Given the description of an element on the screen output the (x, y) to click on. 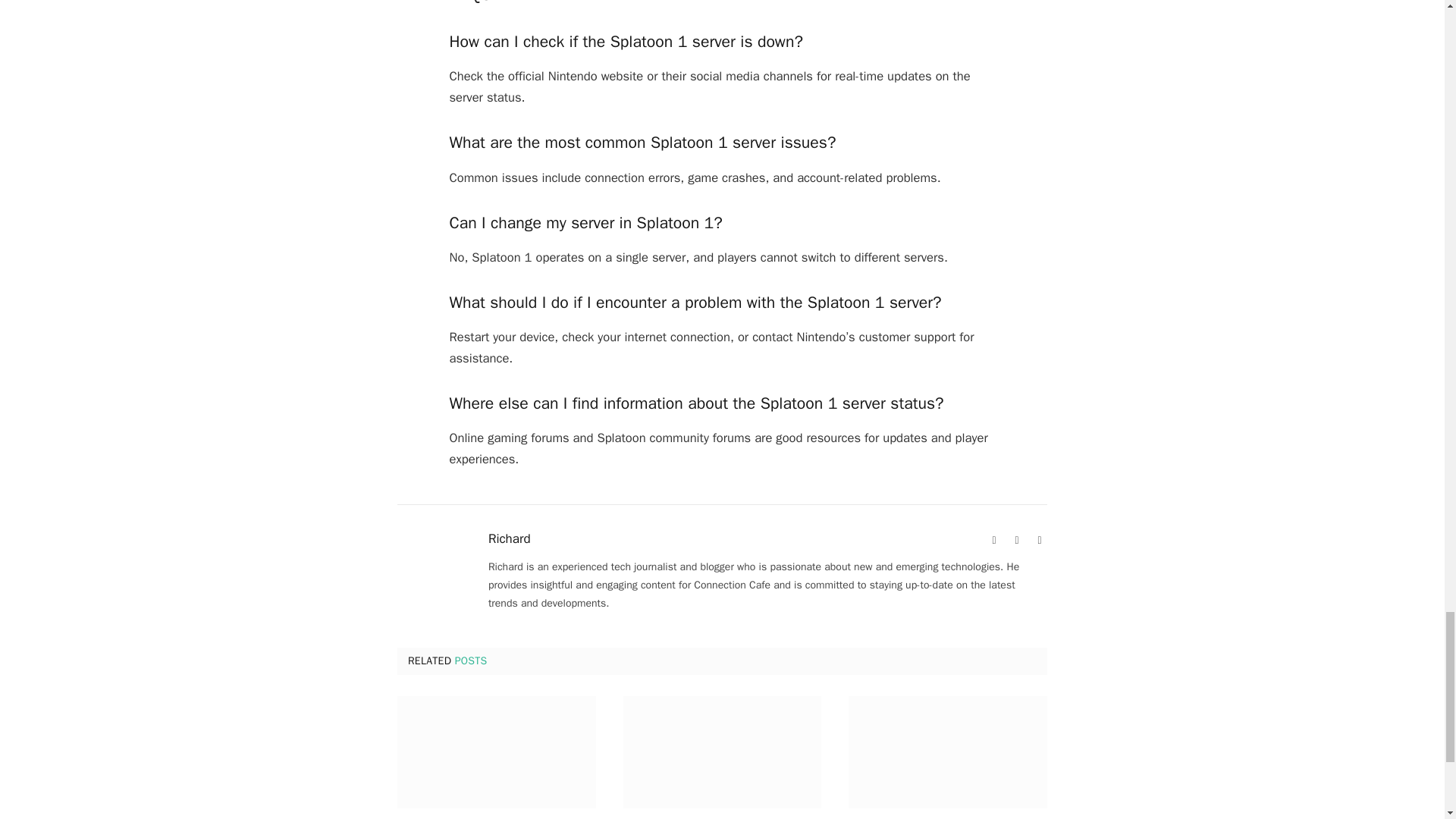
Posts by Richard (509, 539)
Facebook (1017, 540)
Farming Simulator 19 Server Status: Is it Working Fine? (947, 751)
NBA 2K14 Server Status: Is it Working Fine? (722, 751)
Website (994, 540)
Rocket League Server Status: Is it Working Fine? (496, 751)
Twitter (1039, 540)
